Given the description of an element on the screen output the (x, y) to click on. 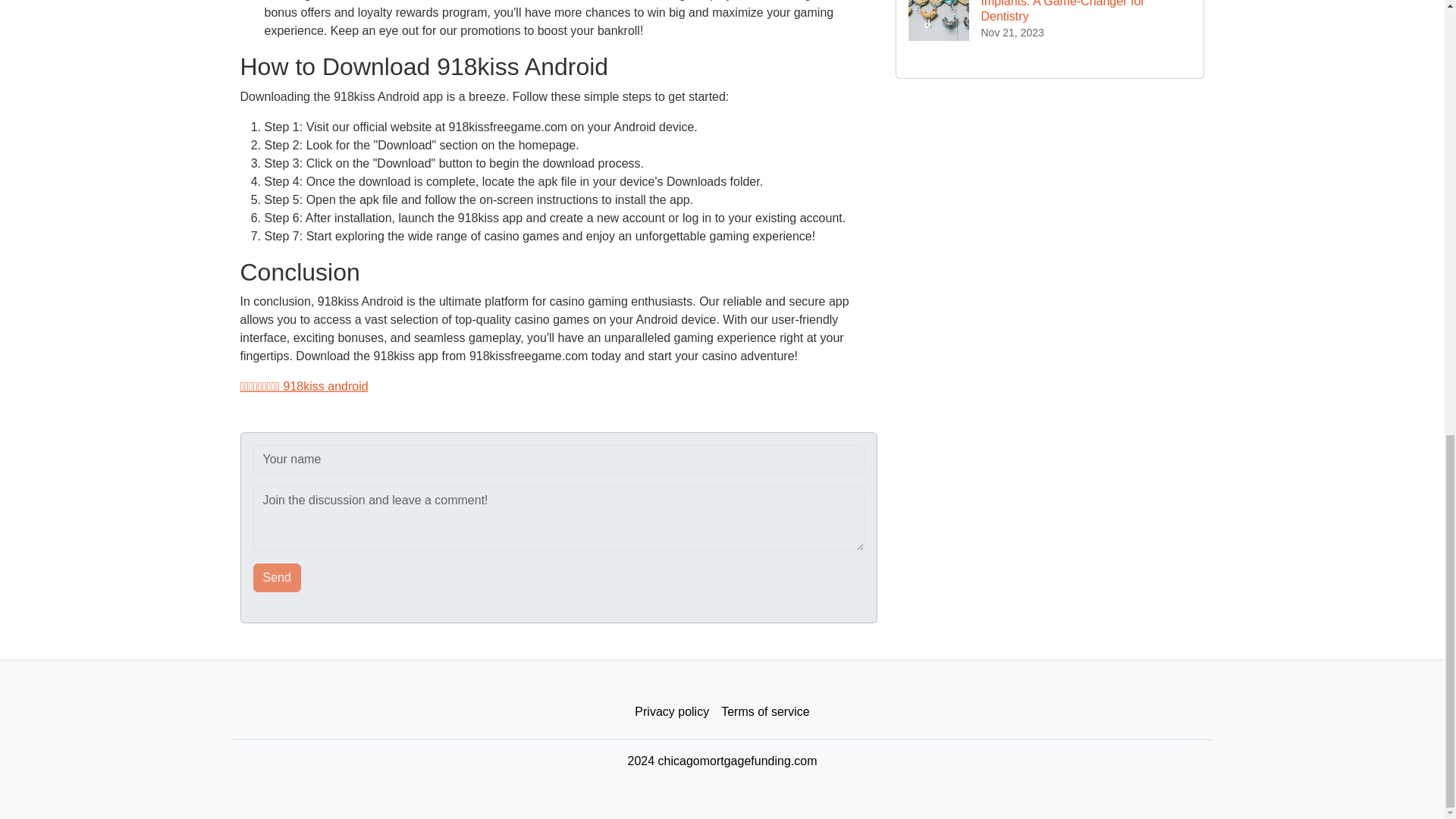
Send (277, 577)
Send (277, 577)
